Given the description of an element on the screen output the (x, y) to click on. 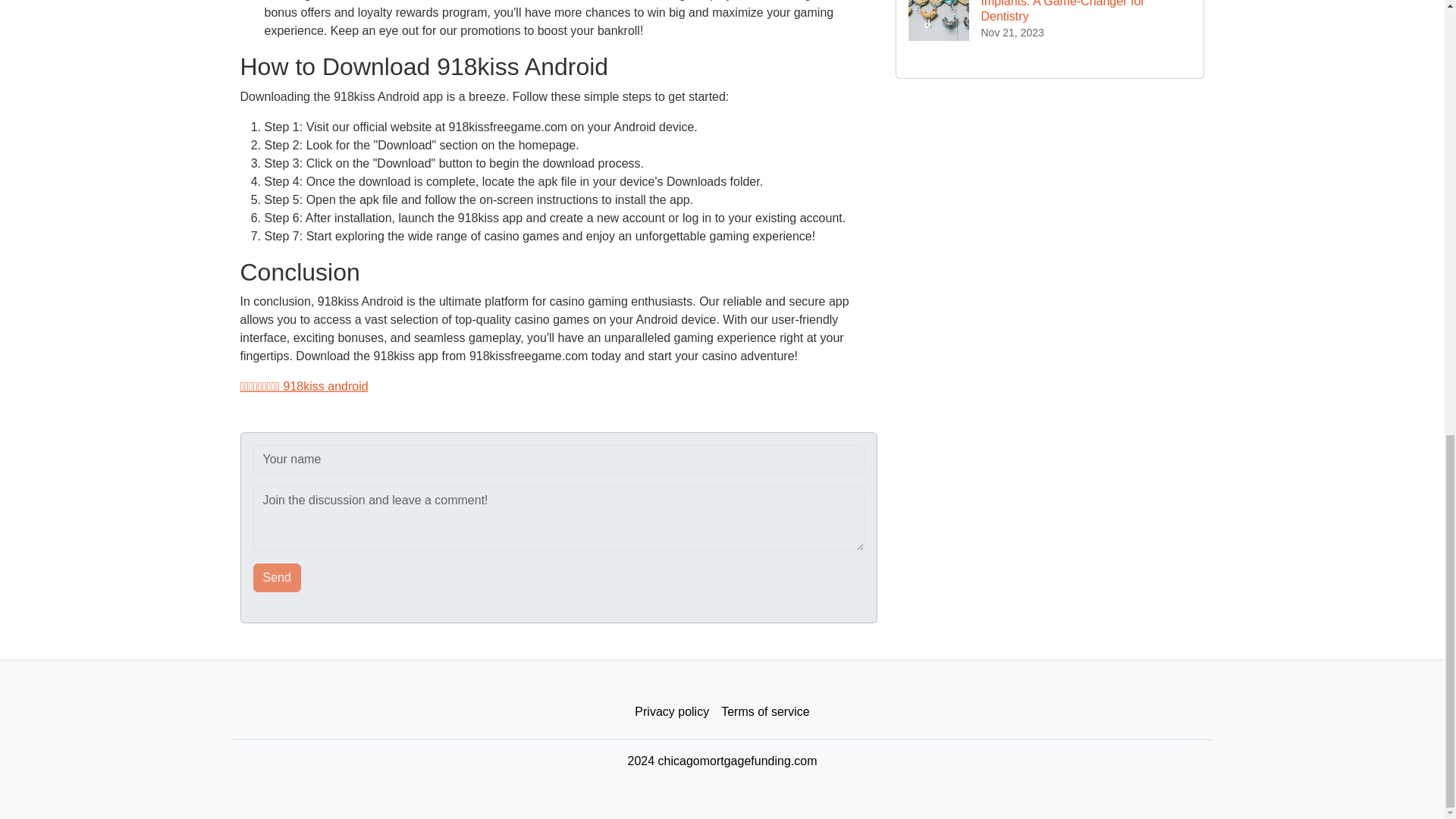
Send (277, 577)
Send (277, 577)
